Given the description of an element on the screen output the (x, y) to click on. 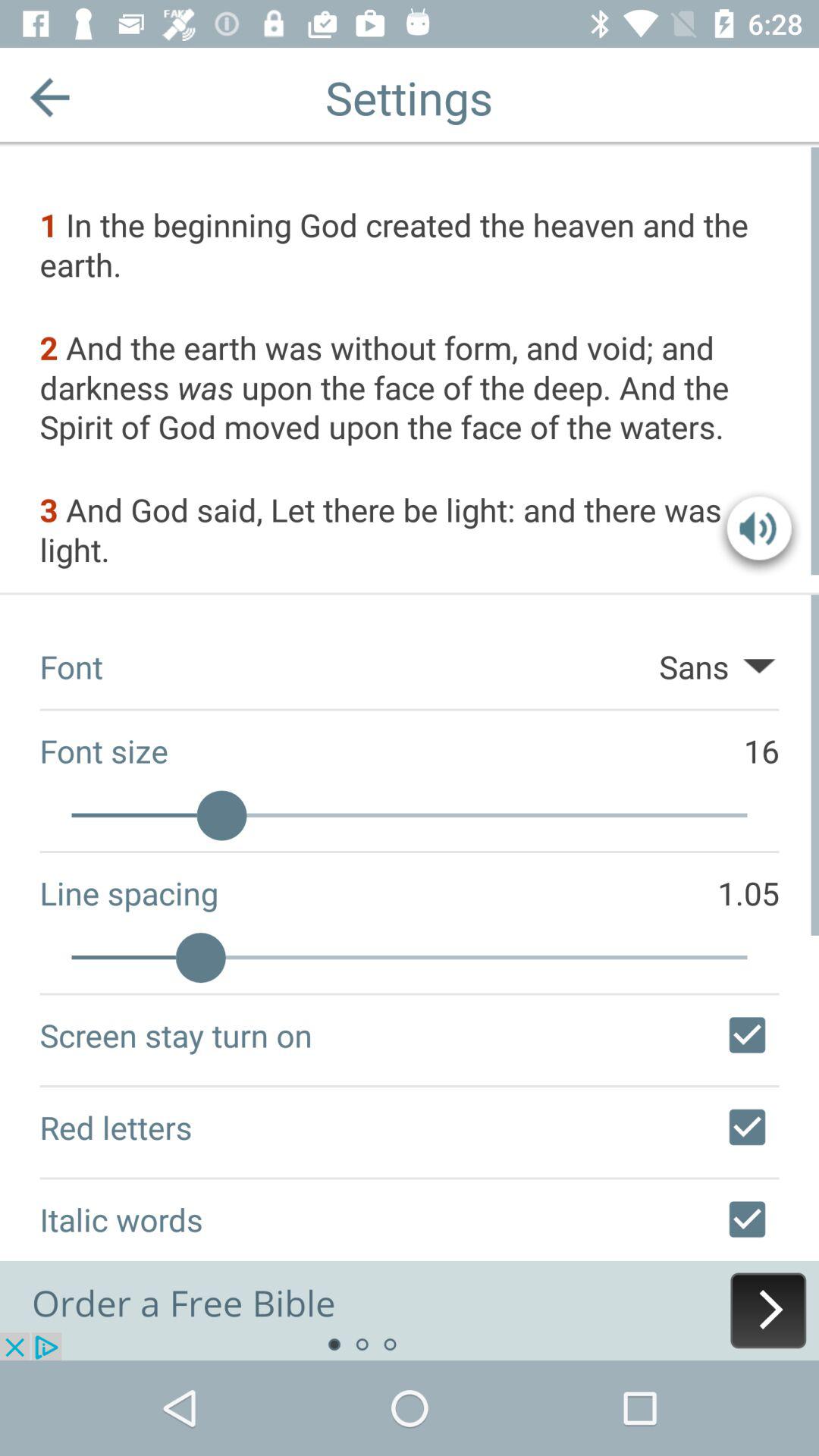
toggle italic words (747, 1219)
